Given the description of an element on the screen output the (x, y) to click on. 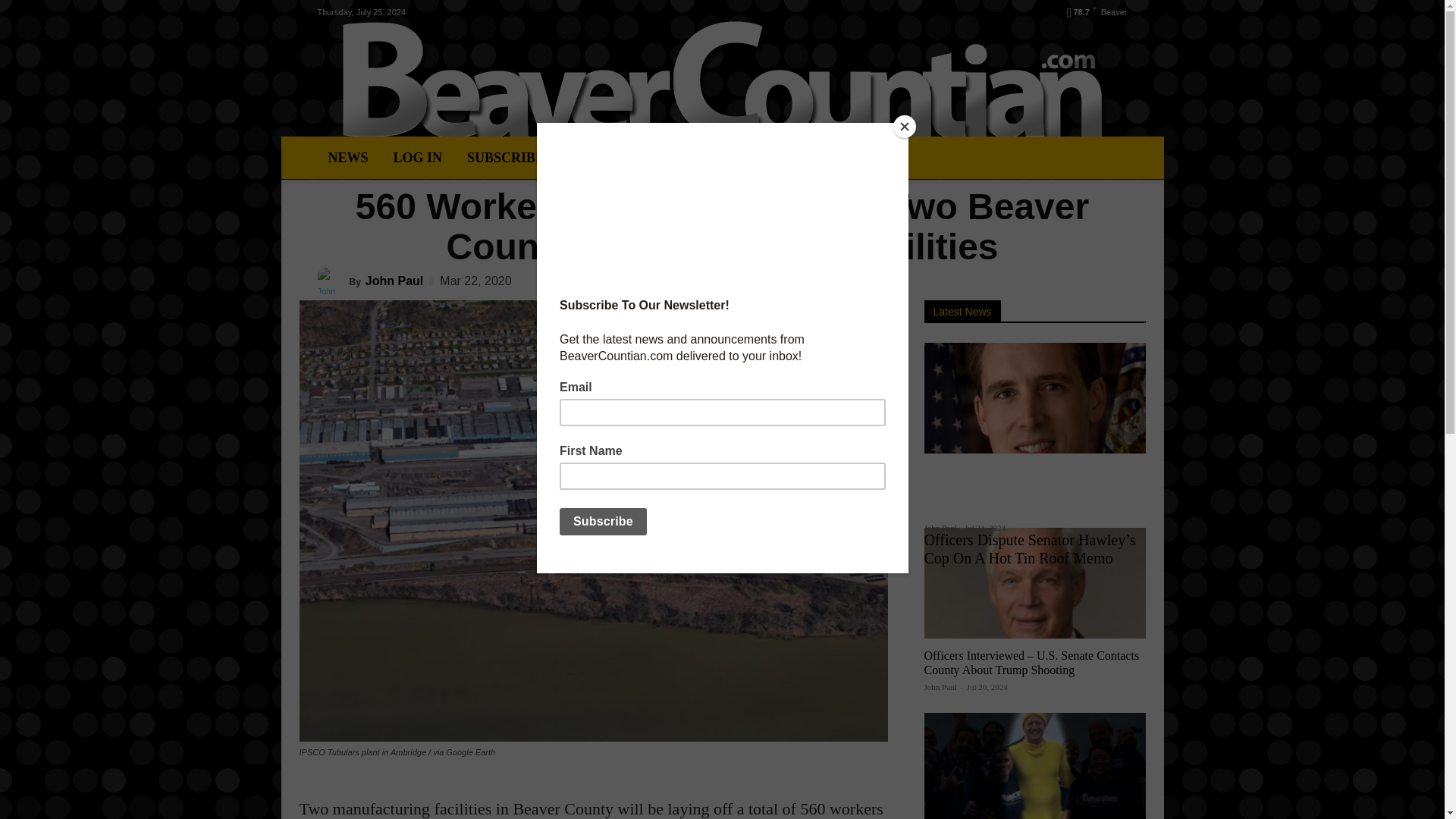
Beaver County News (721, 79)
John Paul (333, 280)
CONTACT (763, 157)
ABOUT (679, 157)
NEWS (347, 157)
Beaver County News (722, 79)
LOG IN (417, 157)
John Paul (939, 686)
SUBSCRIBE (505, 157)
John Paul (394, 281)
911 LOGS (600, 157)
John Paul (939, 527)
